Given the description of an element on the screen output the (x, y) to click on. 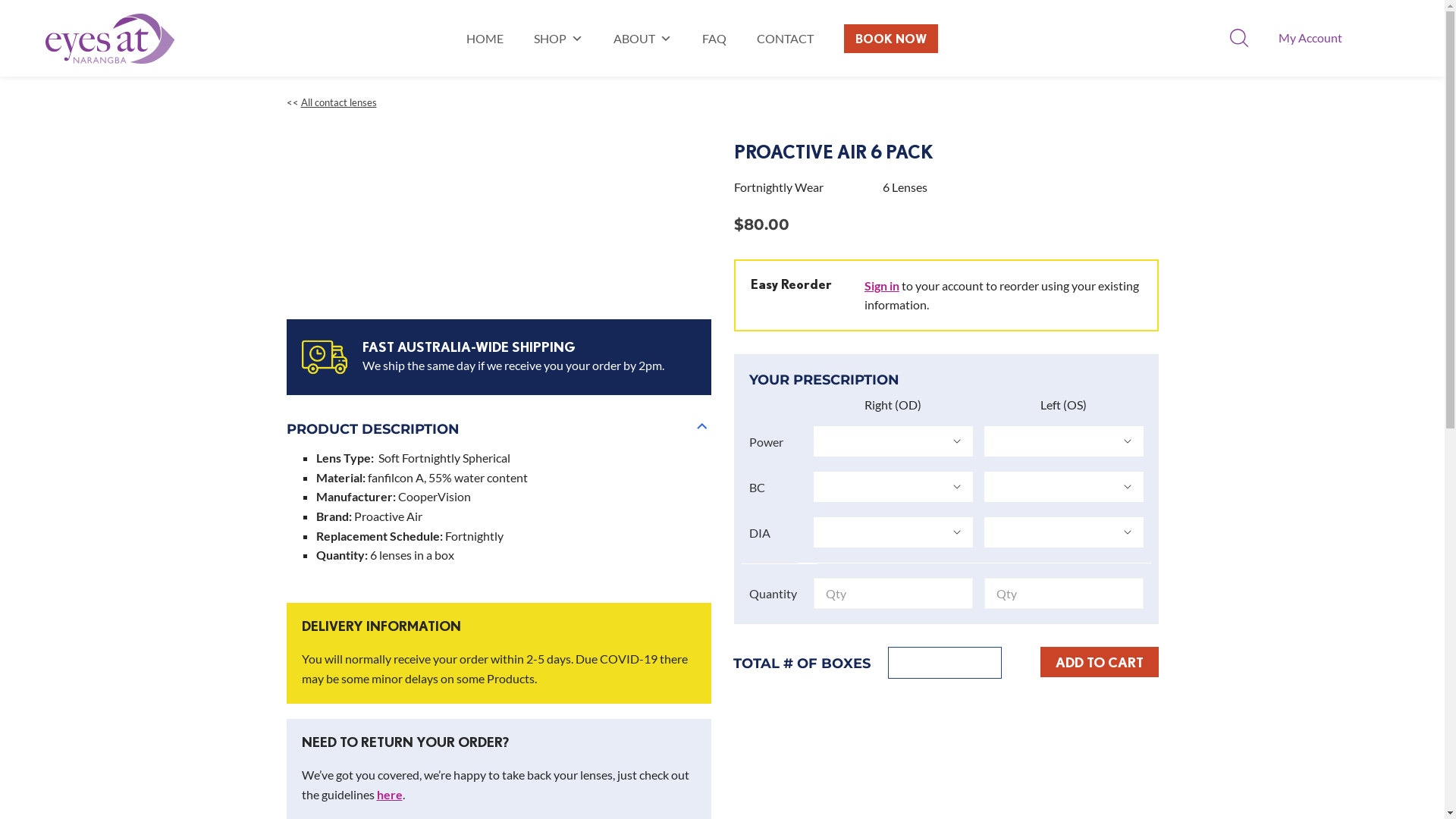
SHOP Element type: text (558, 37)
here Element type: text (388, 794)
HOME Element type: text (484, 37)
Eyesat Element type: hover (109, 38)
ABOUT Element type: text (642, 37)
BOOK NOW Element type: text (891, 38)
Sign in Element type: text (881, 285)
FAQ Element type: text (714, 37)
My Account Element type: text (1310, 37)
CONTACT Element type: text (784, 37)
All contact lenses Element type: text (338, 102)
Qty Element type: hover (944, 662)
ADD TO CART Element type: text (1099, 661)
